Given the description of an element on the screen output the (x, y) to click on. 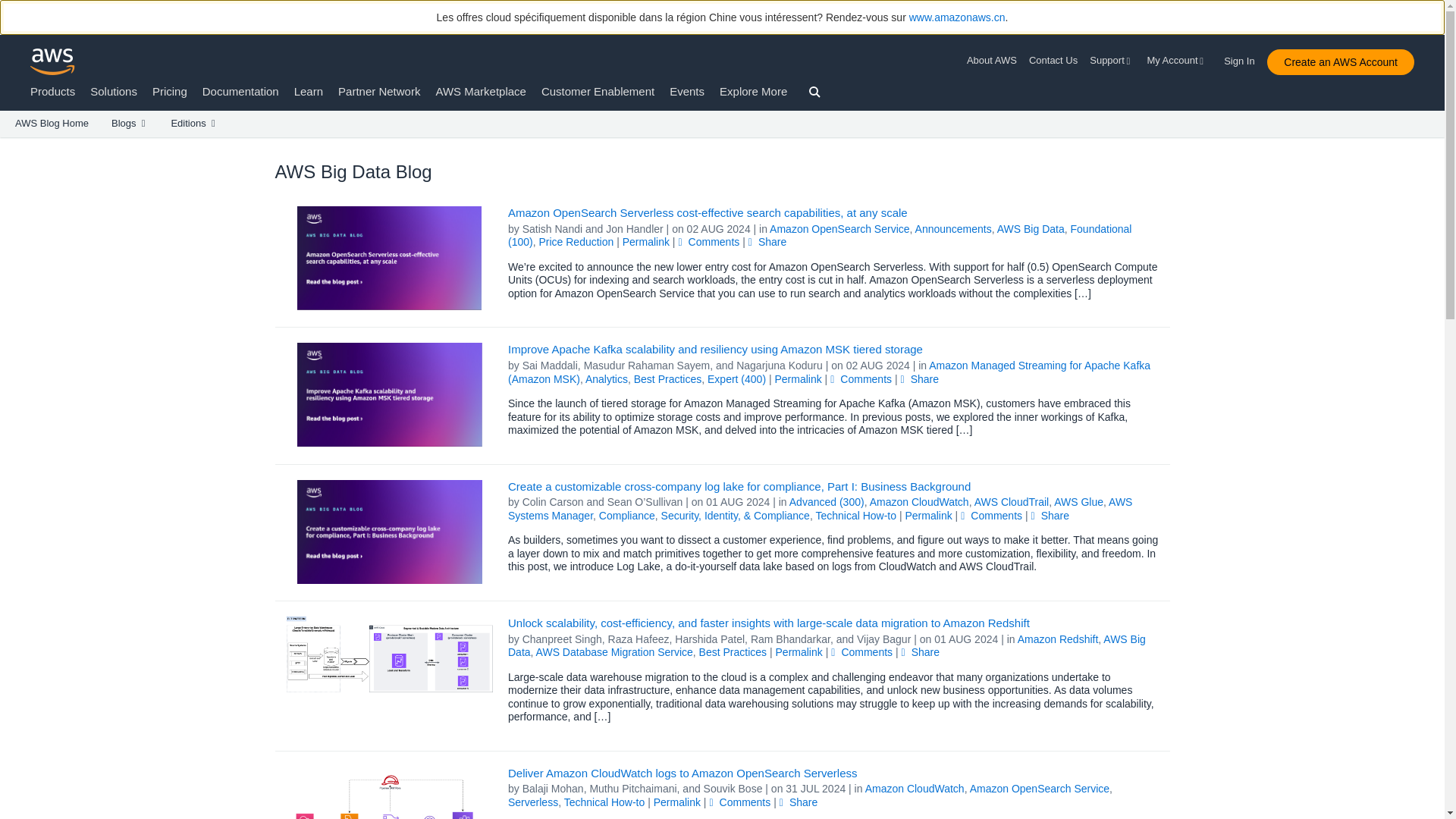
View all posts in AWS Glue (1078, 501)
My Account  (1177, 60)
View all posts in Amazon OpenSearch Service (839, 228)
View all posts in Analytics (606, 378)
View all posts in Best Practices (667, 378)
View all posts in Price Reduction (575, 241)
View all posts in Announcements (953, 228)
Skip to Main Content (7, 143)
Click here to return to Amazon Web Services homepage (52, 61)
View all posts in Technical How-to (855, 515)
Documentation (240, 91)
AWS Marketplace (480, 91)
View all posts in AWS Systems Manager (820, 508)
Events (686, 91)
Support  (1111, 60)
